Given the description of an element on the screen output the (x, y) to click on. 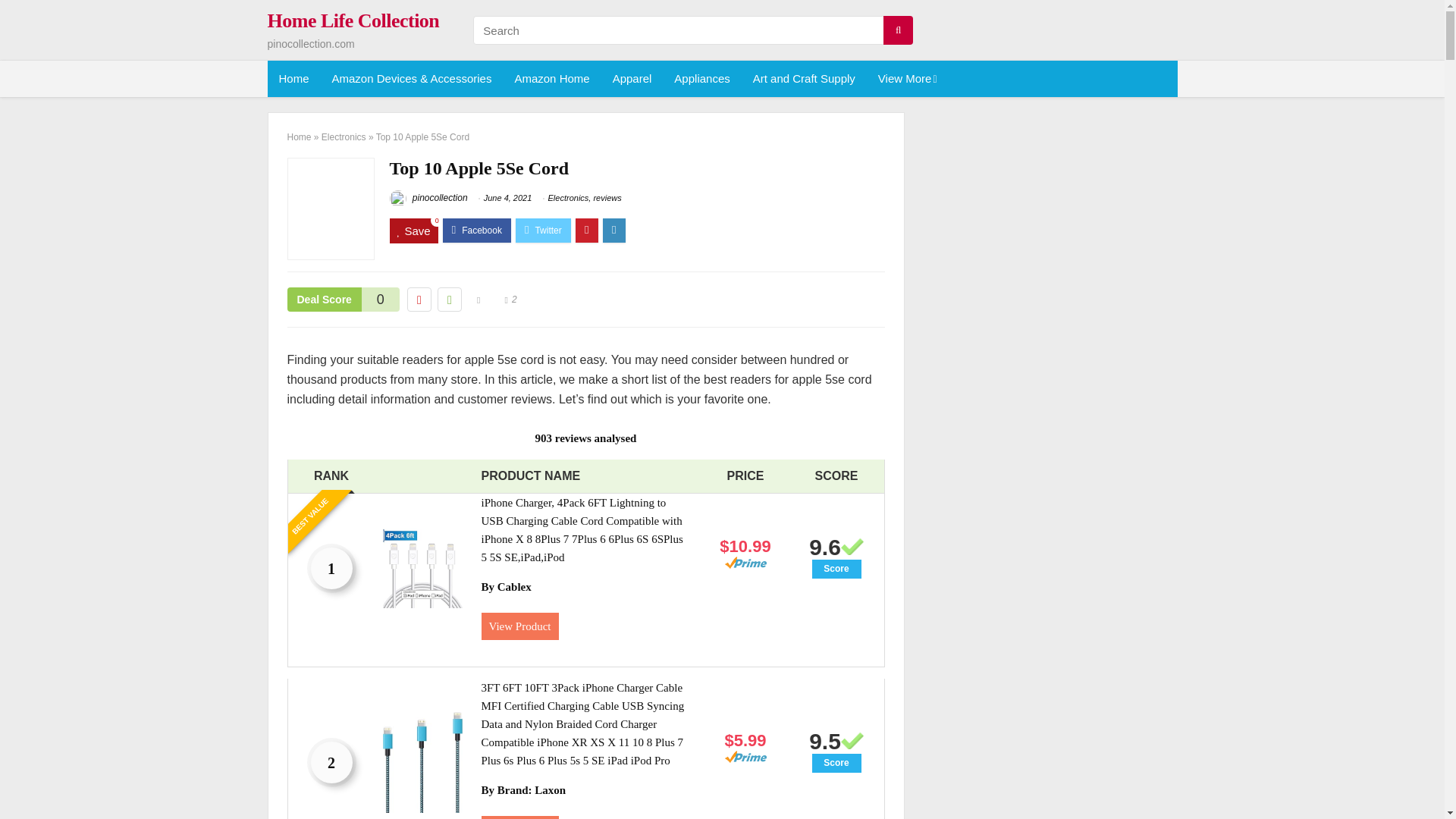
View all posts in Electronics (568, 197)
Amazon Home (550, 78)
View all posts in reviews (606, 197)
Apparel (632, 78)
Home (293, 78)
View More (905, 78)
Vote down (418, 299)
Art and Craft Supply (803, 78)
Appliances (701, 78)
